Given the description of an element on the screen output the (x, y) to click on. 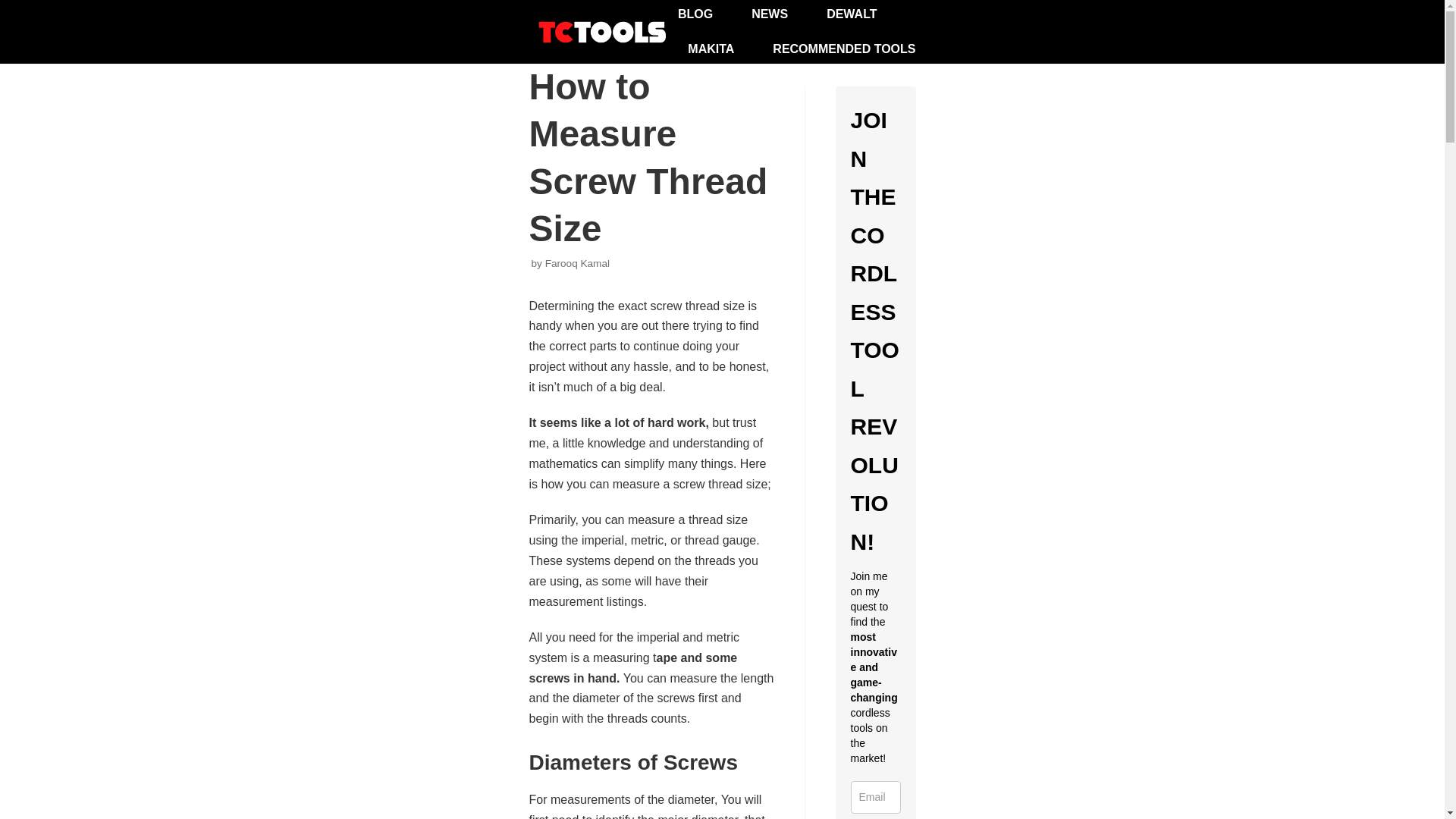
Posts by Farooq Kamal (577, 263)
Farooq Kamal (577, 263)
Skip to content (15, 7)
TC Tools (605, 31)
MAKITA (710, 48)
DEWALT (851, 14)
RECOMMENDED TOOLS (844, 48)
NEWS (769, 14)
BLOG (695, 14)
